Given the description of an element on the screen output the (x, y) to click on. 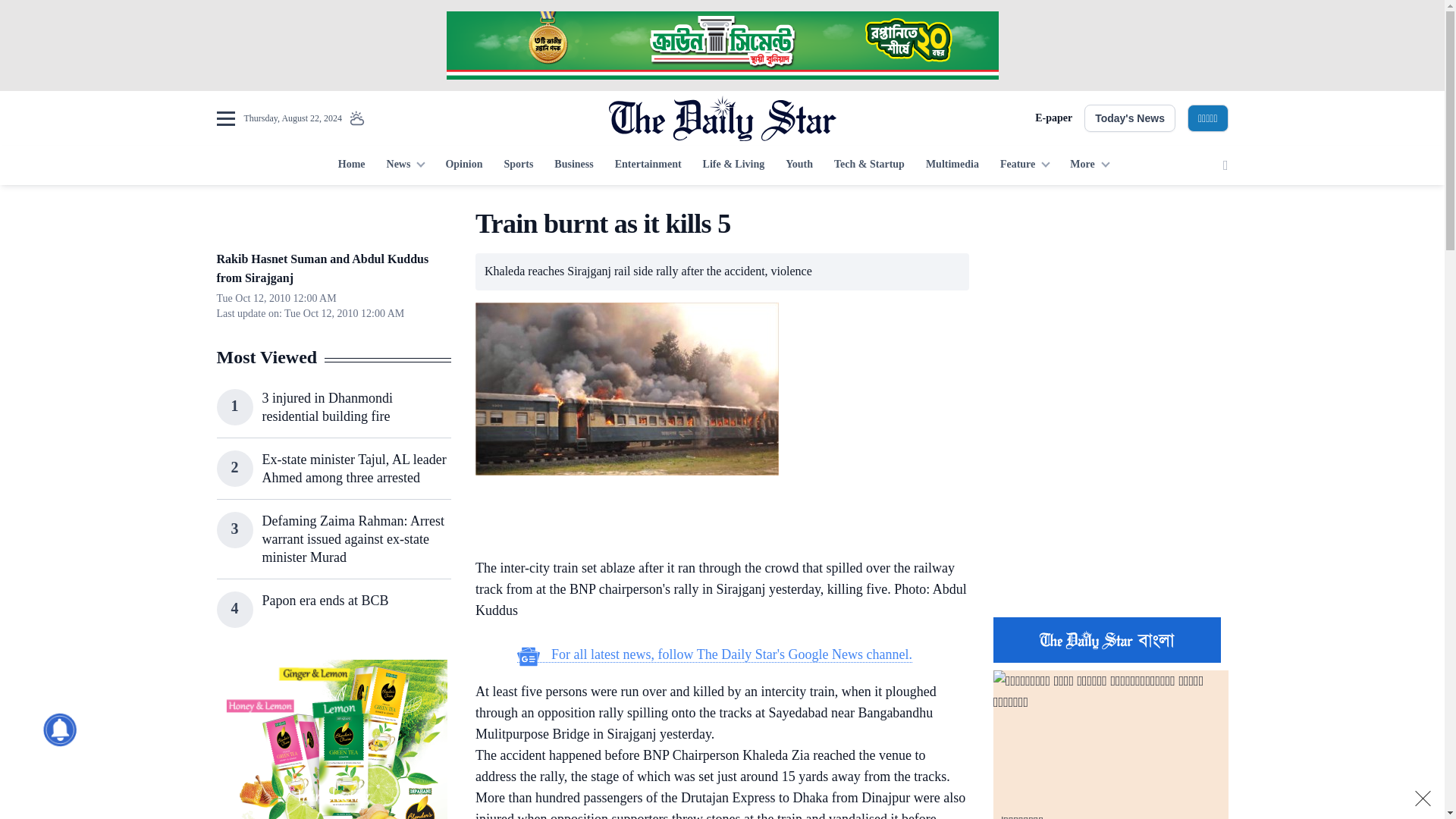
Today's News (1129, 117)
3rd party ad content (714, 519)
Feature (1024, 165)
Opinion (463, 165)
News (405, 165)
Entertainment (647, 165)
Business (573, 165)
3rd party ad content (1110, 506)
E-paper (1053, 117)
